Given the description of an element on the screen output the (x, y) to click on. 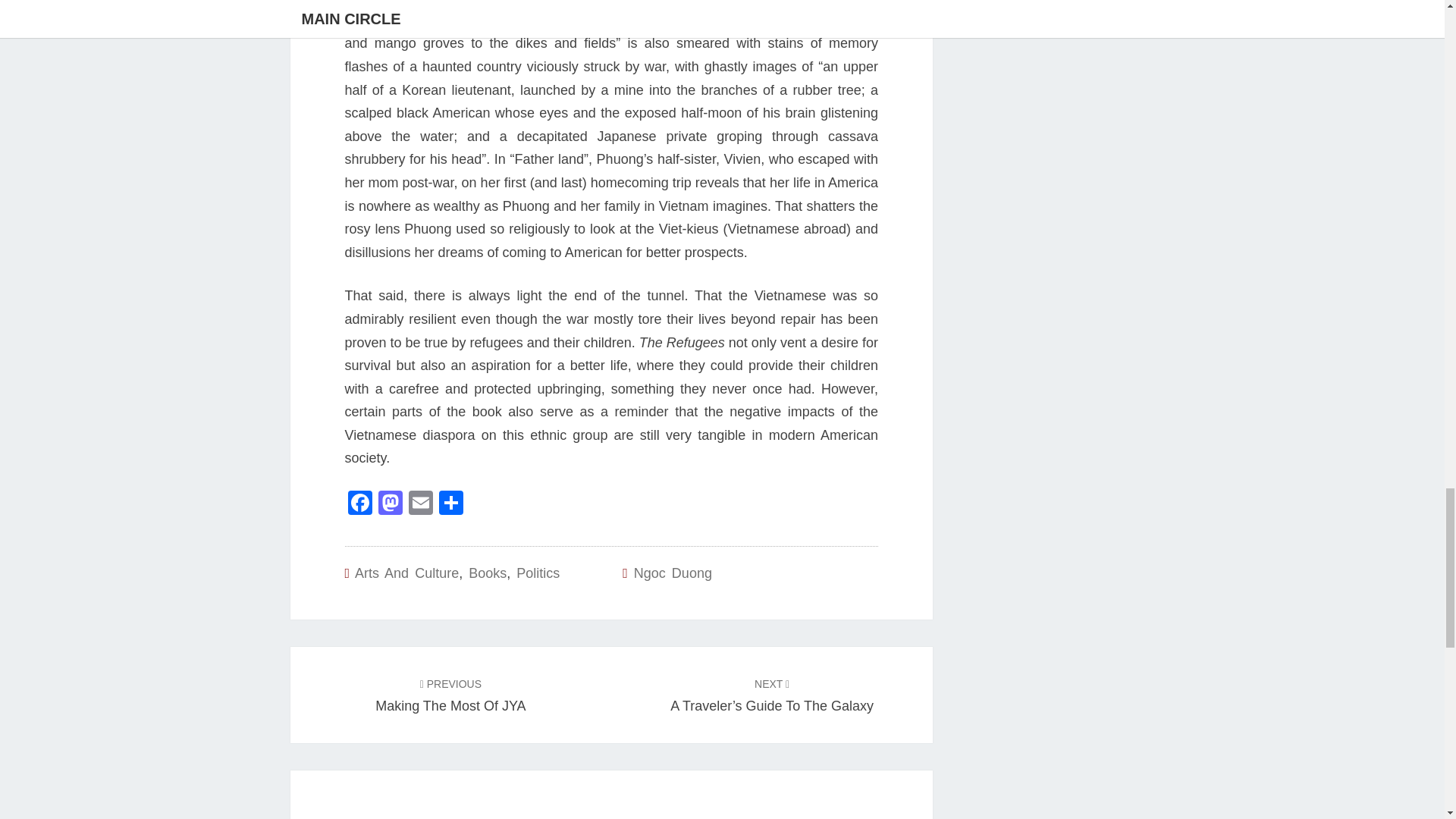
Mastodon (389, 504)
Email (419, 504)
Mastodon (389, 504)
Politics (537, 572)
Ngoc Duong (672, 572)
Facebook (358, 504)
Facebook (358, 504)
Books (487, 572)
Email (419, 504)
